Given the description of an element on the screen output the (x, y) to click on. 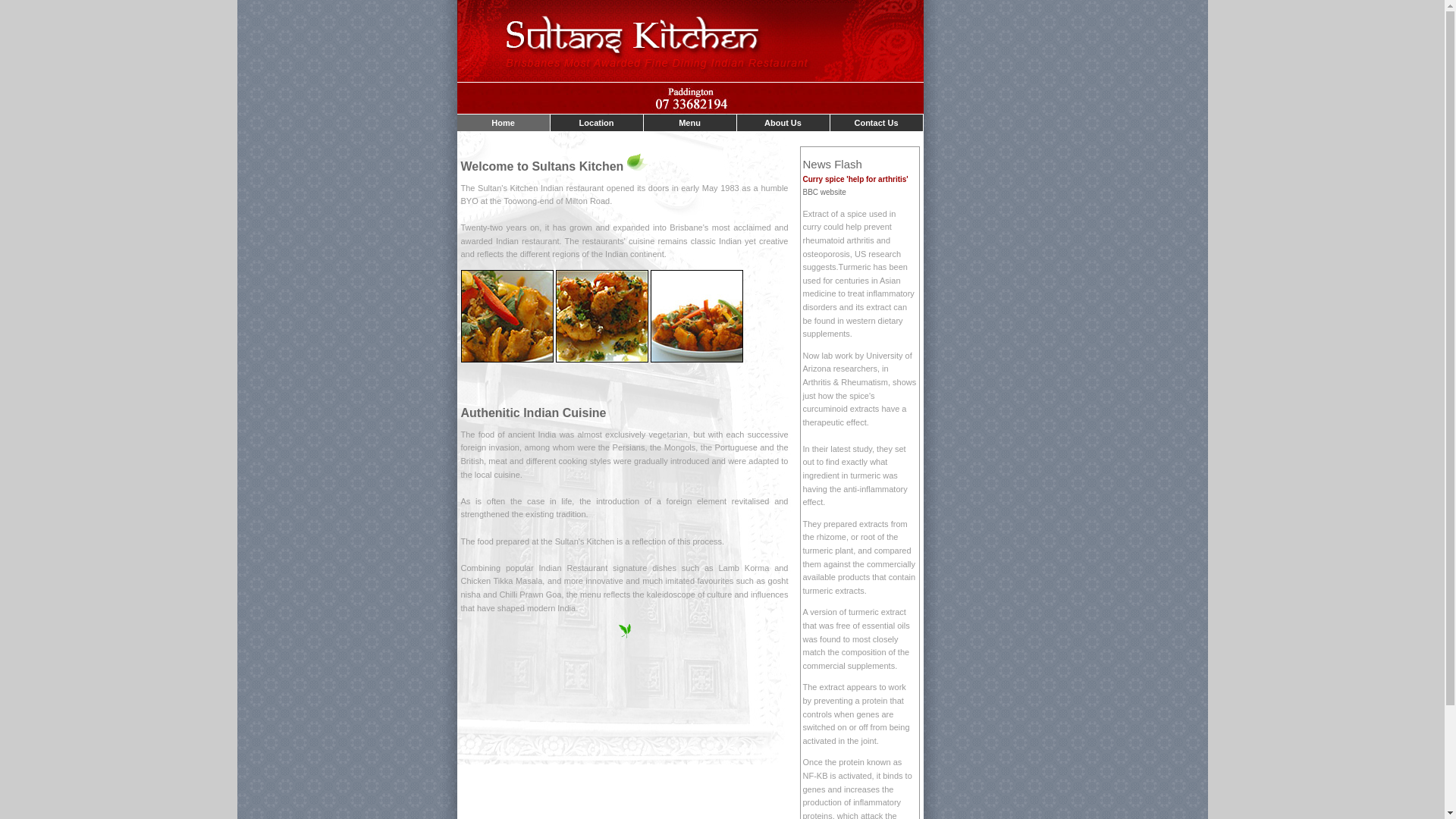
Location Element type: text (596, 122)
About Us Element type: text (782, 122)
Menu Element type: text (689, 122)
Home Element type: text (502, 122)
Contact Us Element type: text (875, 122)
